Given the description of an element on the screen output the (x, y) to click on. 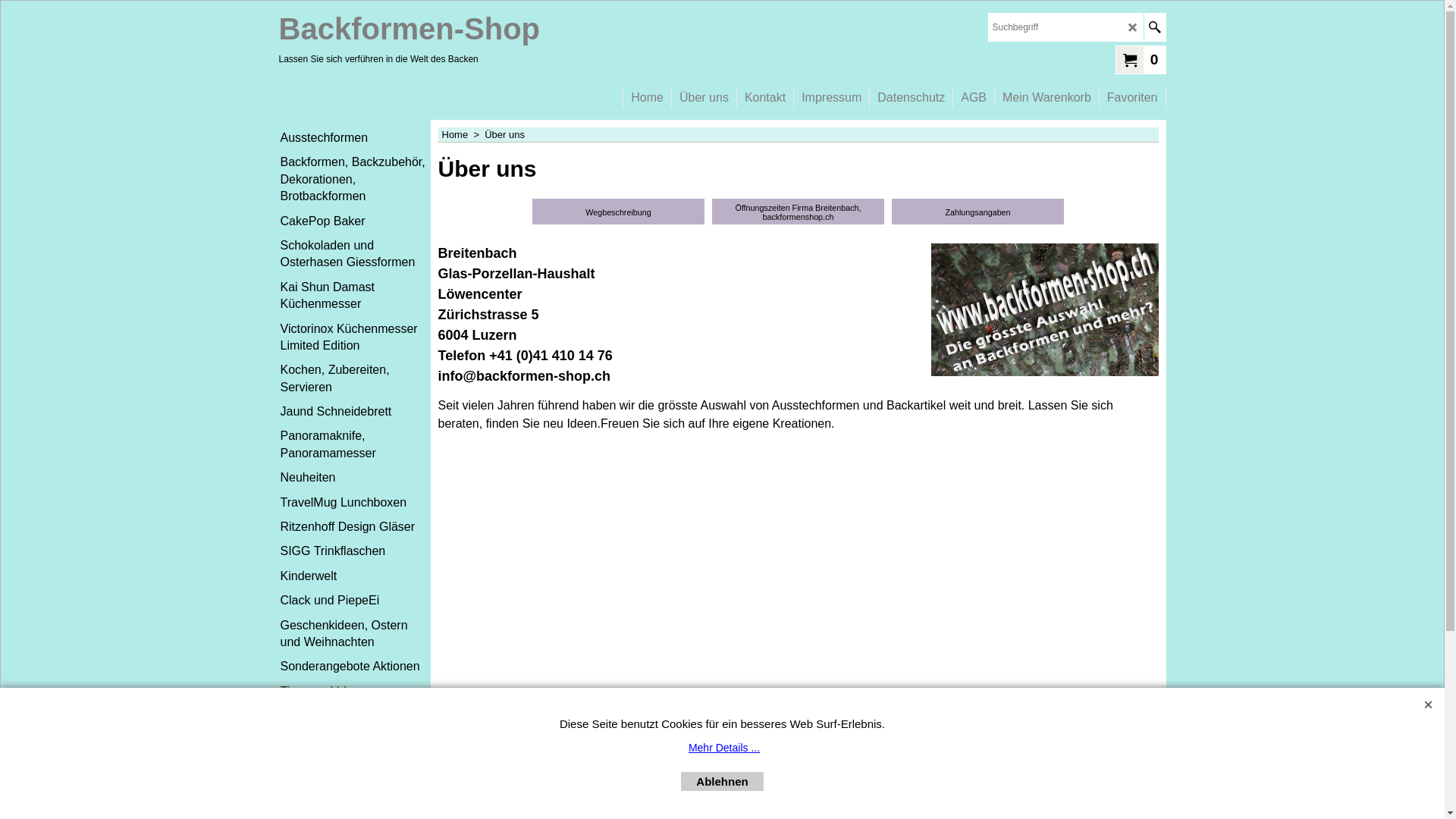
Dies ist ein Titel Element type: text (358, 747)
Impressum Element type: text (831, 90)
Clack und PiepeEi Element type: text (354, 600)
Home Element type: text (647, 90)
Sonderangebote Aktionen Element type: text (354, 666)
Kinderwelt Element type: text (354, 576)
Datenschutz Element type: text (910, 90)
Zahlungsangaben Element type: text (977, 211)
Geschenkideen, Ostern und Weihnachten Element type: text (354, 634)
Schokoladen und Osterhasen Giessformen Element type: text (354, 254)
Wegbeschreibung Element type: text (618, 211)
Panoramaknife, Panoramamesser Element type: text (354, 444)
LD_CANCEL Element type: hover (1132, 26)
Favoriten Element type: text (1132, 90)
Backformen-Shop Element type: text (409, 29)
CakePop Baker Element type: text (354, 221)
0 Element type: text (1140, 58)
Mehr Details ... Element type: text (723, 747)
SIGG Trinkflaschen Element type: text (354, 551)
TravelMug Lunchboxen Element type: text (354, 502)
AGB Element type: text (973, 90)
Kochen, Zubereiten, Servieren Element type: text (354, 378)
Tipps und Ideen Element type: text (354, 691)
Ablehnen Element type: text (721, 780)
Neuheiten Element type: text (354, 477)
Kontakt Element type: text (765, 90)
Dies ist ein Titel Element type: text (358, 769)
Suche Element type: hover (1154, 26)
Jaund Schneidebrett Element type: text (354, 411)
Mein Warenkorb Element type: text (1046, 90)
Ausstechformen Element type: text (354, 137)
Home  >  Element type: text (462, 134)
